Given the description of an element on the screen output the (x, y) to click on. 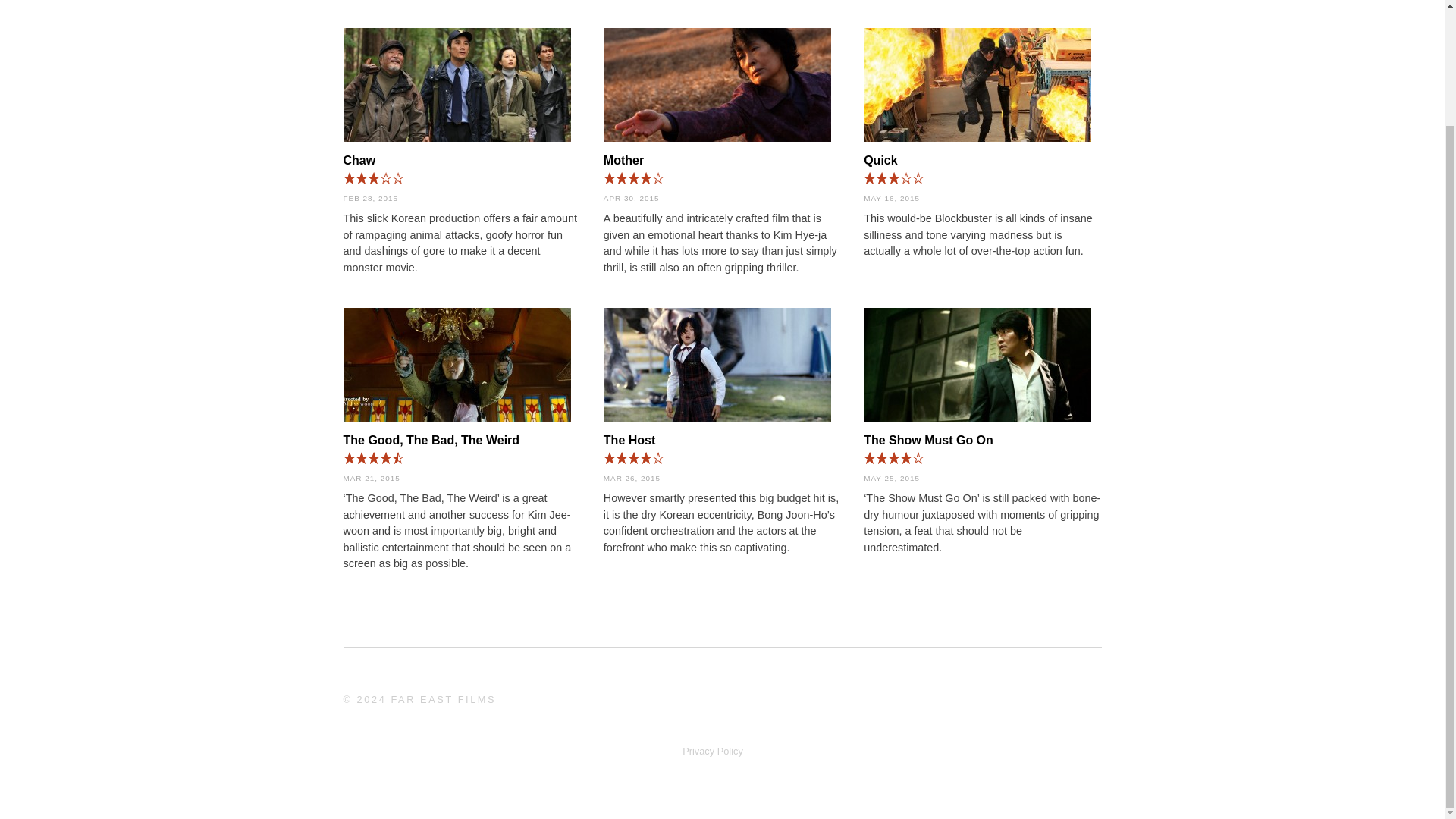
The Good, The Bad, The Weird (430, 440)
The Good, The Bad, The Weird (460, 366)
Quick (879, 160)
The Good, The Bad, The Weird (430, 440)
Chaw (358, 160)
Chaw (358, 160)
Mother (722, 87)
Mother (623, 160)
The Show Must Go On (927, 440)
The Host (629, 440)
The Host (629, 440)
Quick (981, 87)
Mother (623, 160)
The Show Must Go On (927, 440)
Quick (879, 160)
